Given the description of an element on the screen output the (x, y) to click on. 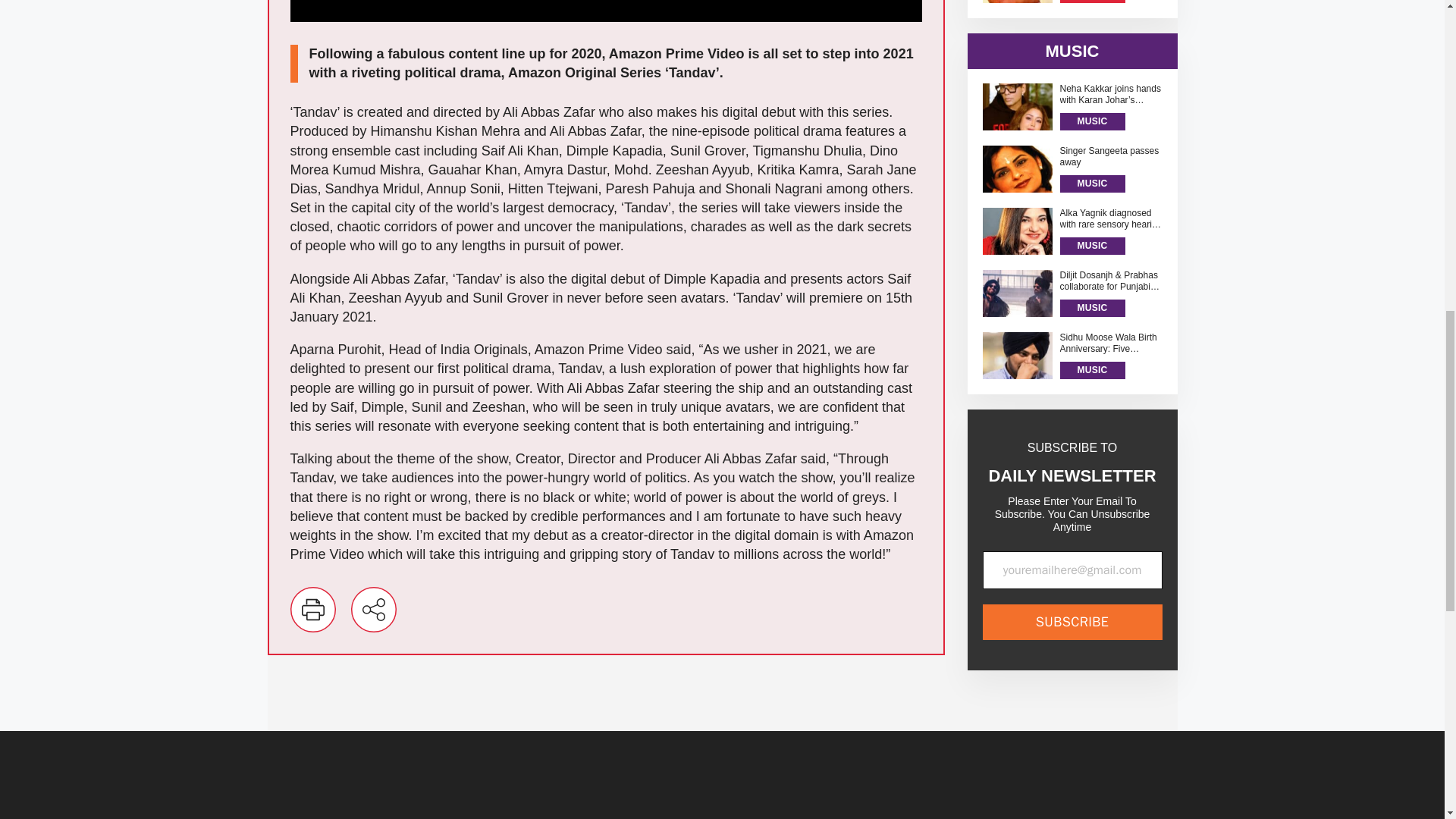
Subscribe (1071, 396)
